Given the description of an element on the screen output the (x, y) to click on. 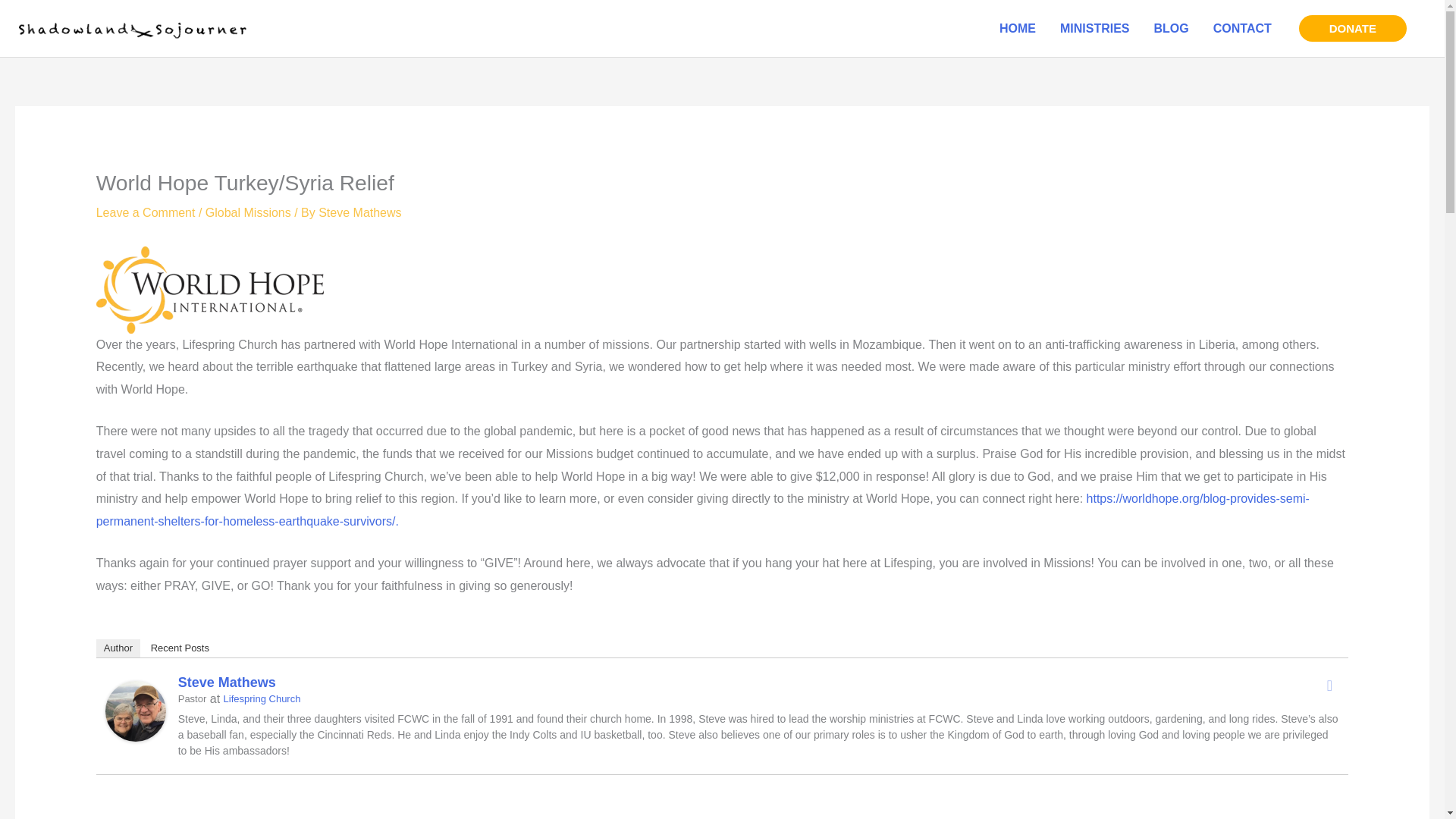
Author (117, 648)
View all posts by Steve Mathews (359, 212)
Lifespring Church (262, 698)
Steve Mathews (134, 709)
BLOG (1171, 28)
Leave a Comment (145, 212)
Recent Posts (179, 648)
Global Missions (248, 212)
Steve Mathews (359, 212)
Steve Mathews (226, 682)
DONATE (1352, 28)
HOME (1017, 28)
CONTACT (1242, 28)
MINISTRIES (1094, 28)
Facebook (1329, 685)
